Given the description of an element on the screen output the (x, y) to click on. 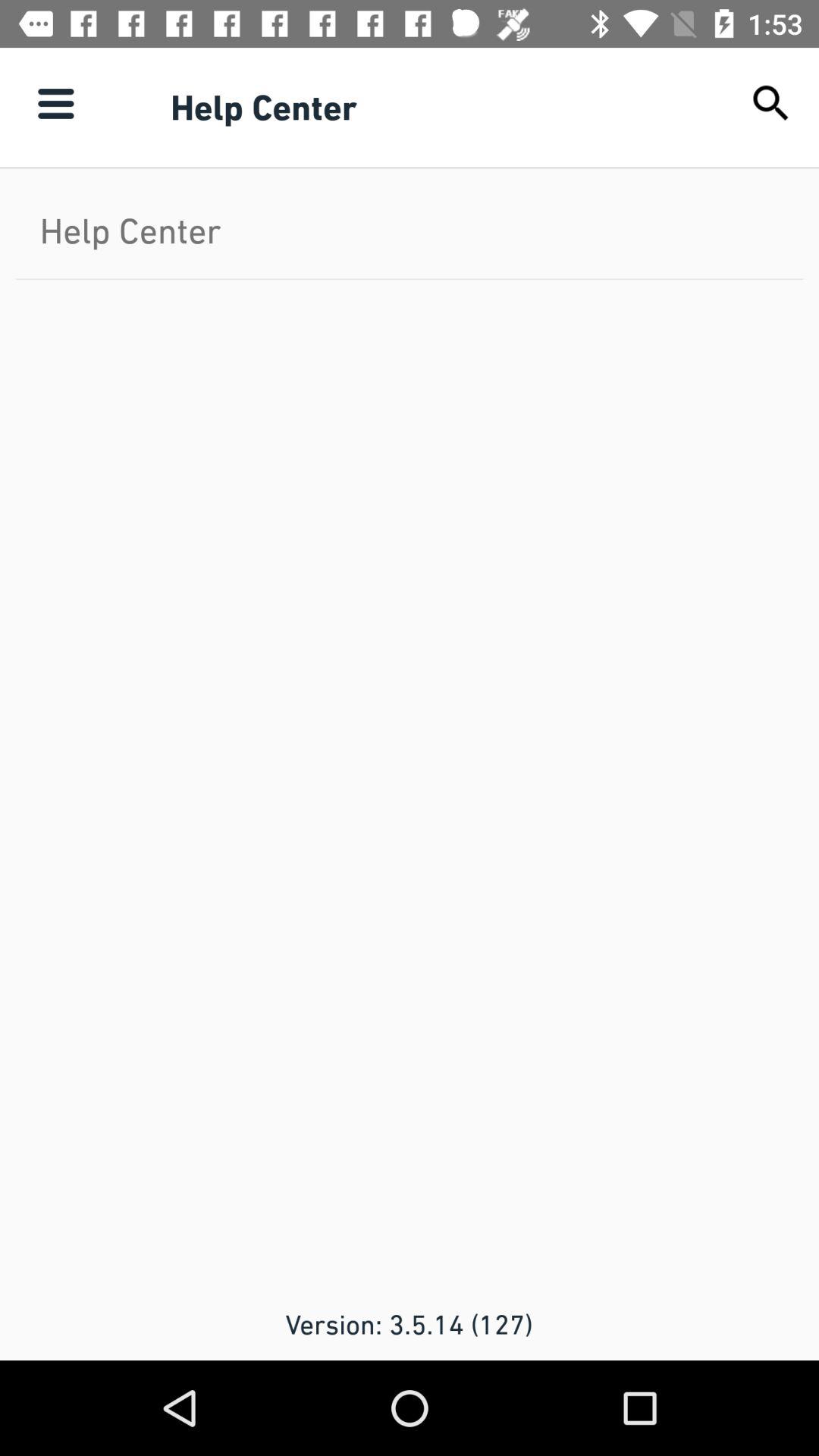
tap item at the top right corner (771, 103)
